Given the description of an element on the screen output the (x, y) to click on. 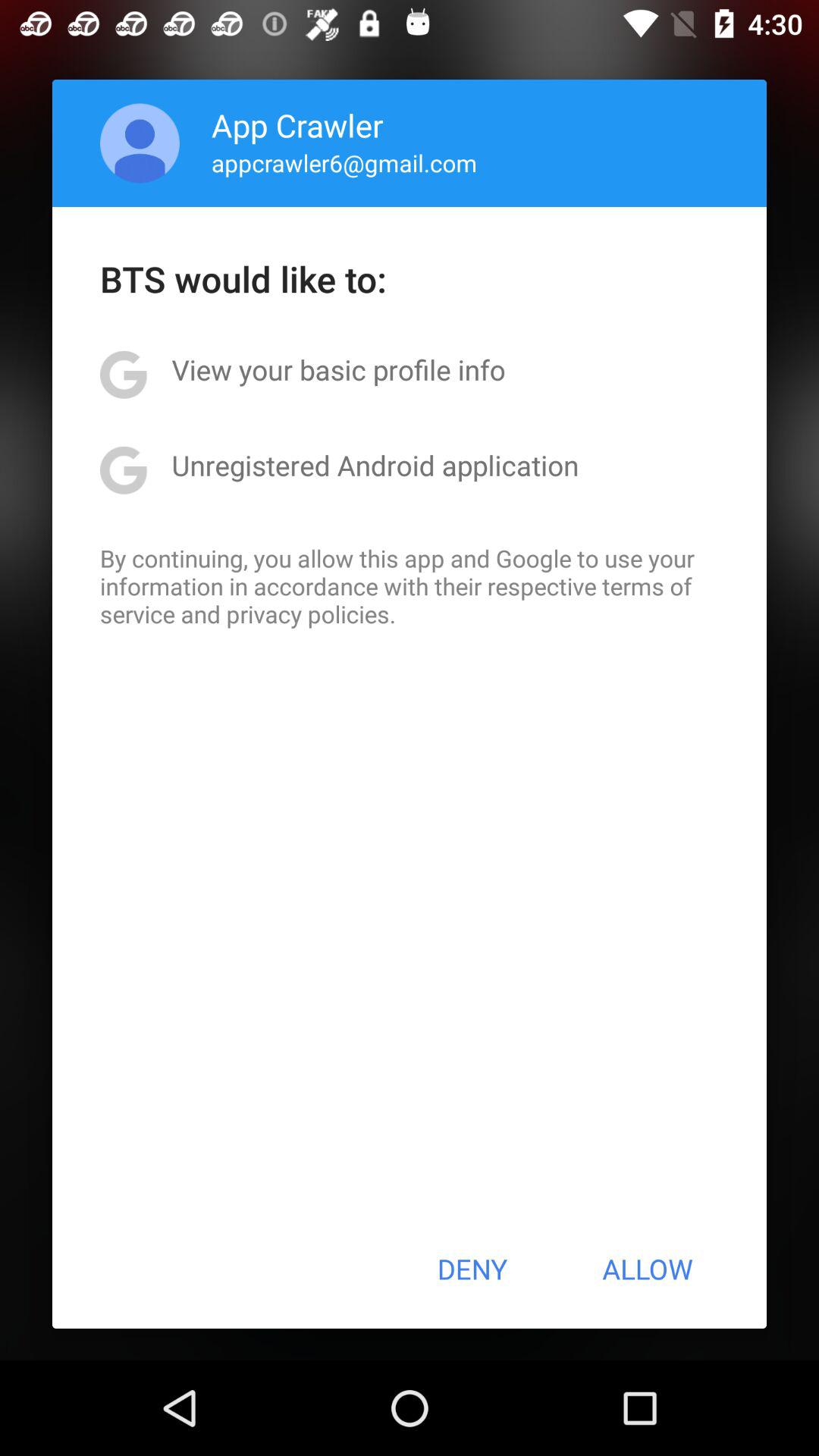
turn off icon to the left of allow item (471, 1268)
